Given the description of an element on the screen output the (x, y) to click on. 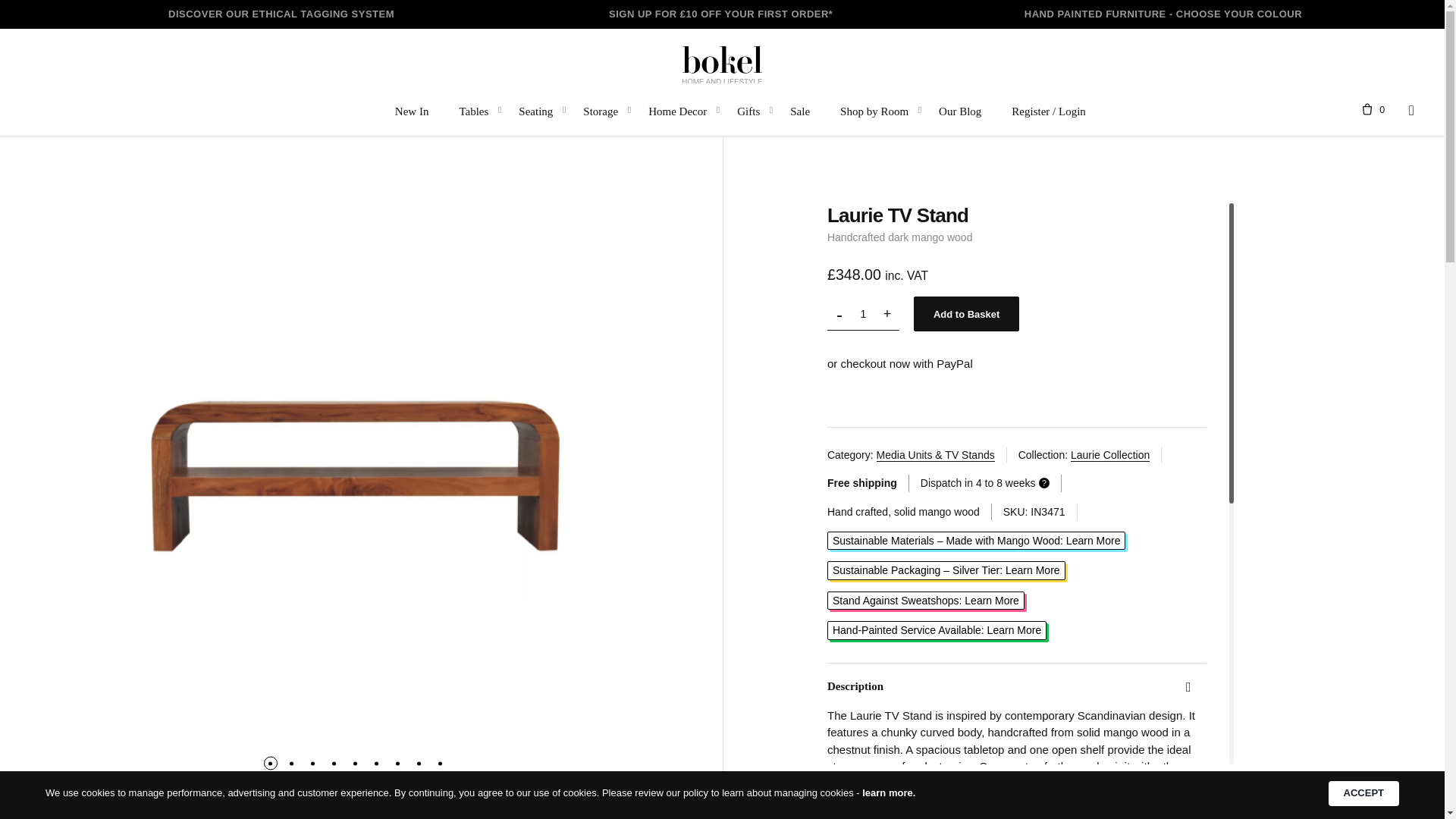
HAND PAINTED FURNITURE - CHOOSE YOUR COLOUR (1162, 14)
Seating (535, 110)
DISCOVER OUR ETHICAL TAGGING SYSTEM (280, 14)
New In (412, 110)
1 (862, 313)
PayPal (902, 394)
0 (1368, 109)
Tables (473, 110)
Qty (862, 313)
